Given the description of an element on the screen output the (x, y) to click on. 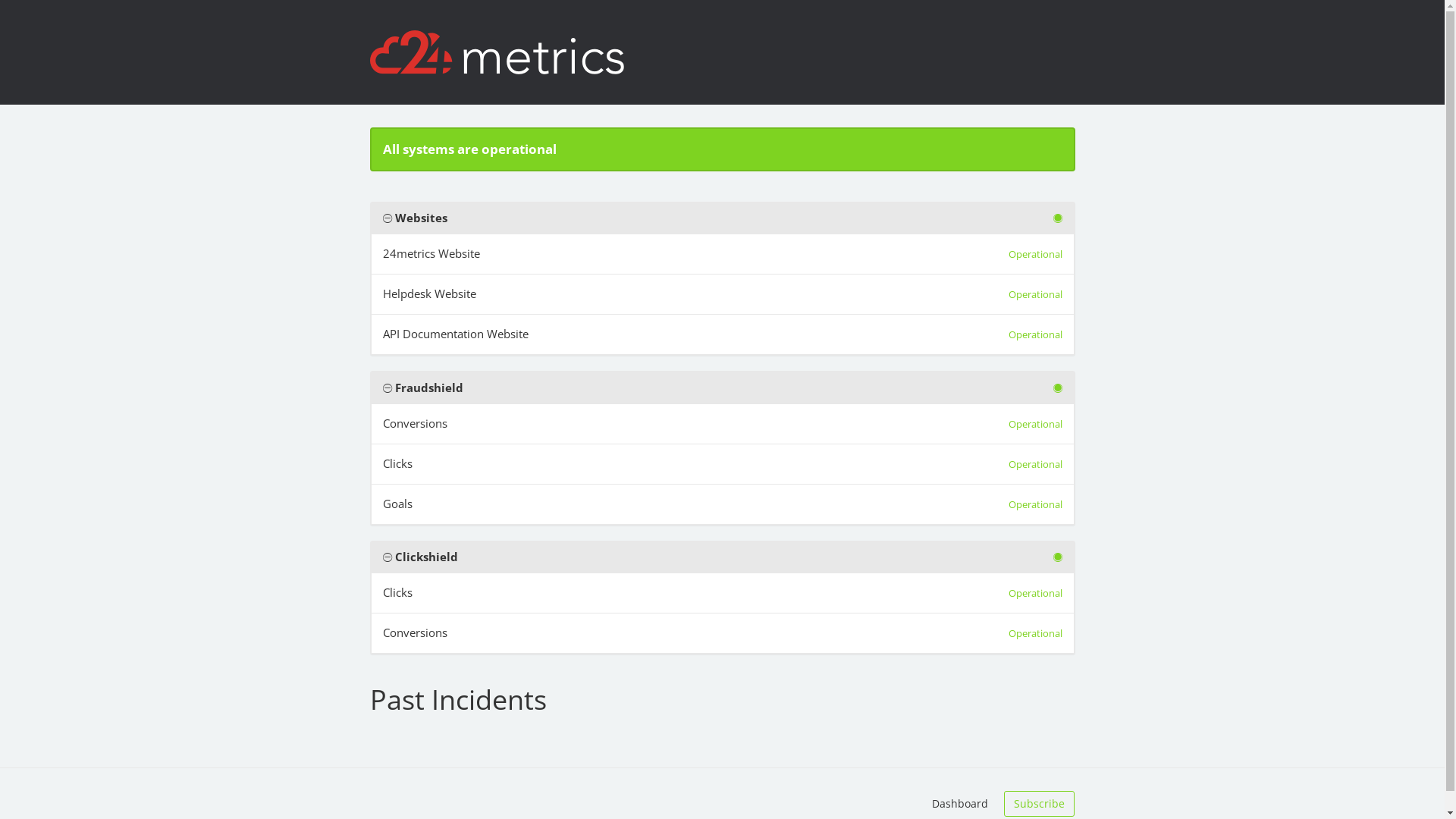
Dashboard Element type: text (959, 803)
Subscribe Element type: text (1039, 803)
24metrics Website Element type: text (430, 253)
Helpdesk Website Element type: text (428, 293)
API Documentation Website Element type: text (454, 334)
